Given the description of an element on the screen output the (x, y) to click on. 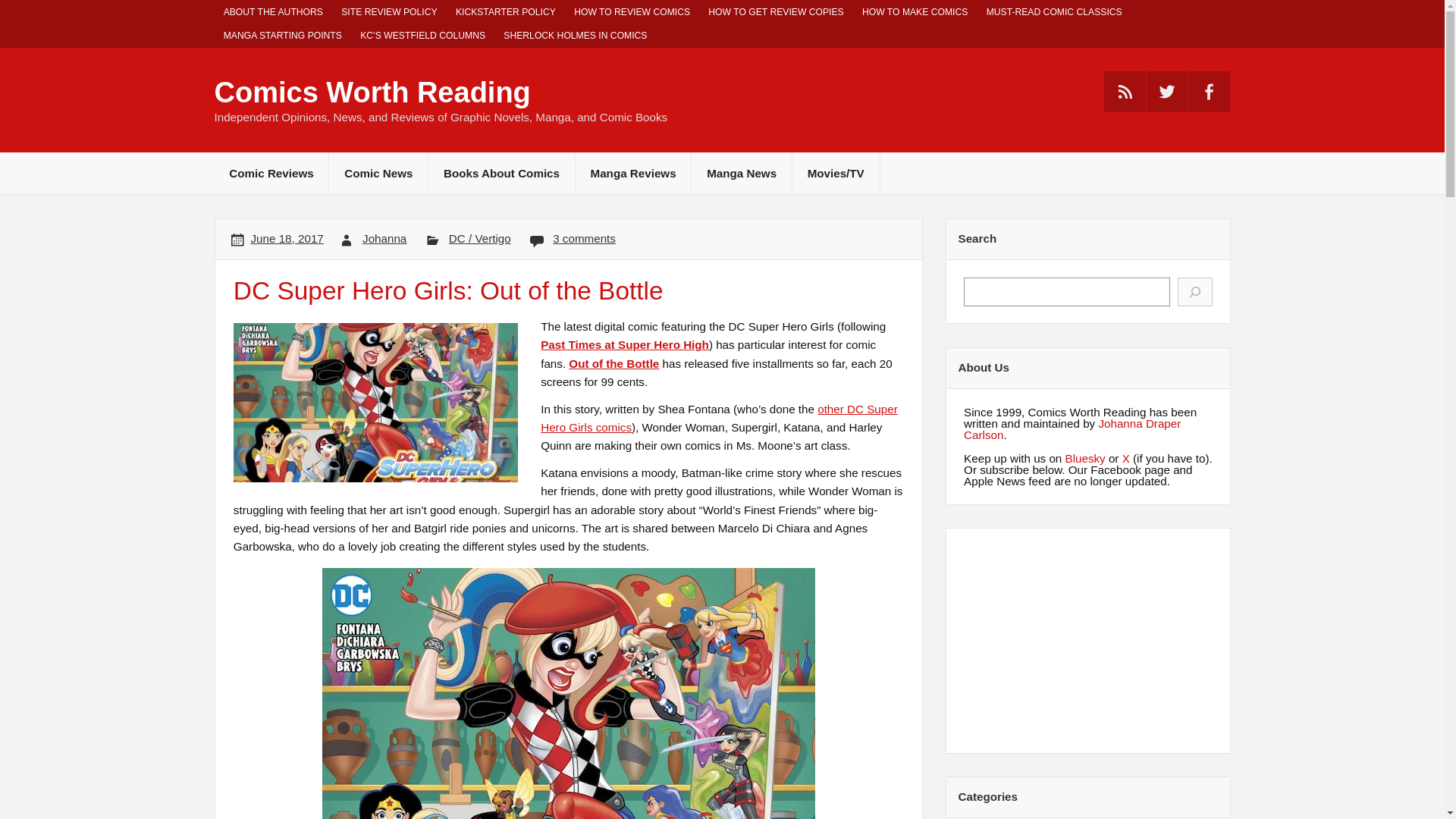
Comic Reviews (271, 173)
HOW TO MAKE COMICS (914, 12)
ABOUT THE AUTHORS (272, 12)
Manga News (741, 173)
Books About Comics (501, 173)
HOW TO GET REVIEW COPIES (775, 12)
other DC Super Hero Girls comics (719, 418)
MUST-READ COMIC CLASSICS (1053, 12)
June 18, 2017 (286, 237)
Comic News (378, 173)
